Given the description of an element on the screen output the (x, y) to click on. 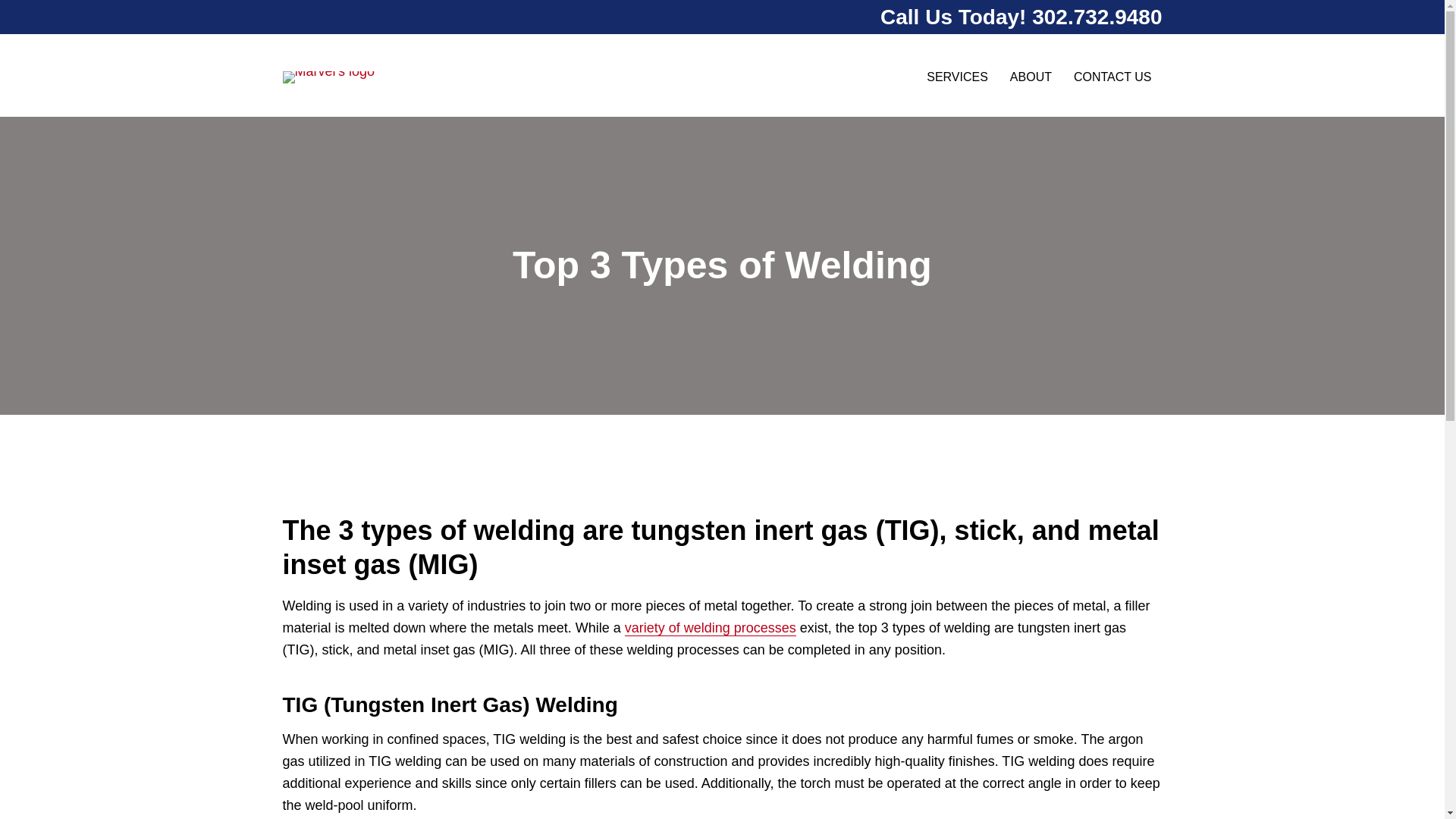
ABOUT (1030, 77)
Marvel's logo (328, 77)
SERVICES (956, 77)
CONTACT US (1111, 77)
variety of welding processes (710, 627)
